Given the description of an element on the screen output the (x, y) to click on. 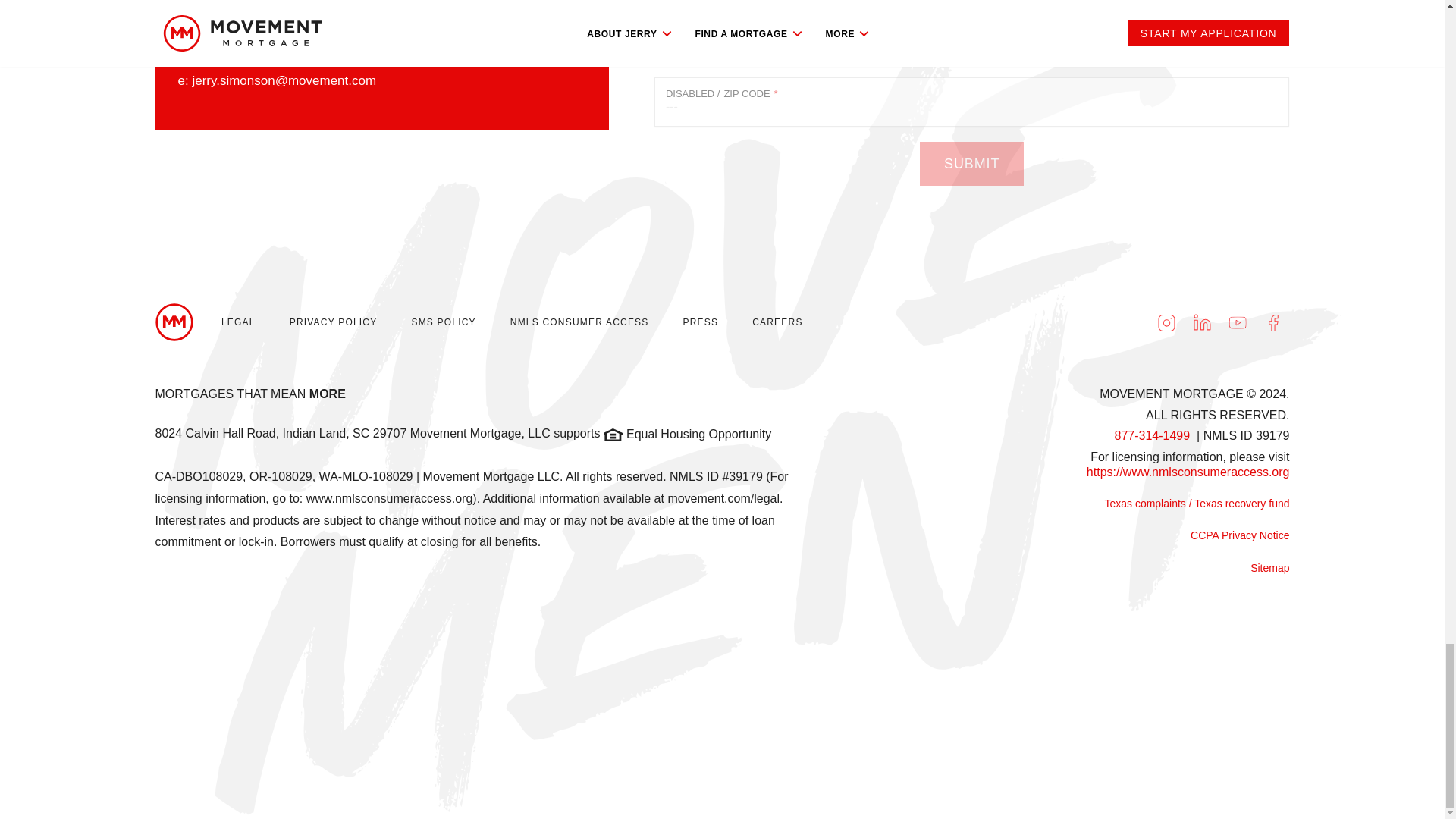
Submit (971, 163)
